Given the description of an element on the screen output the (x, y) to click on. 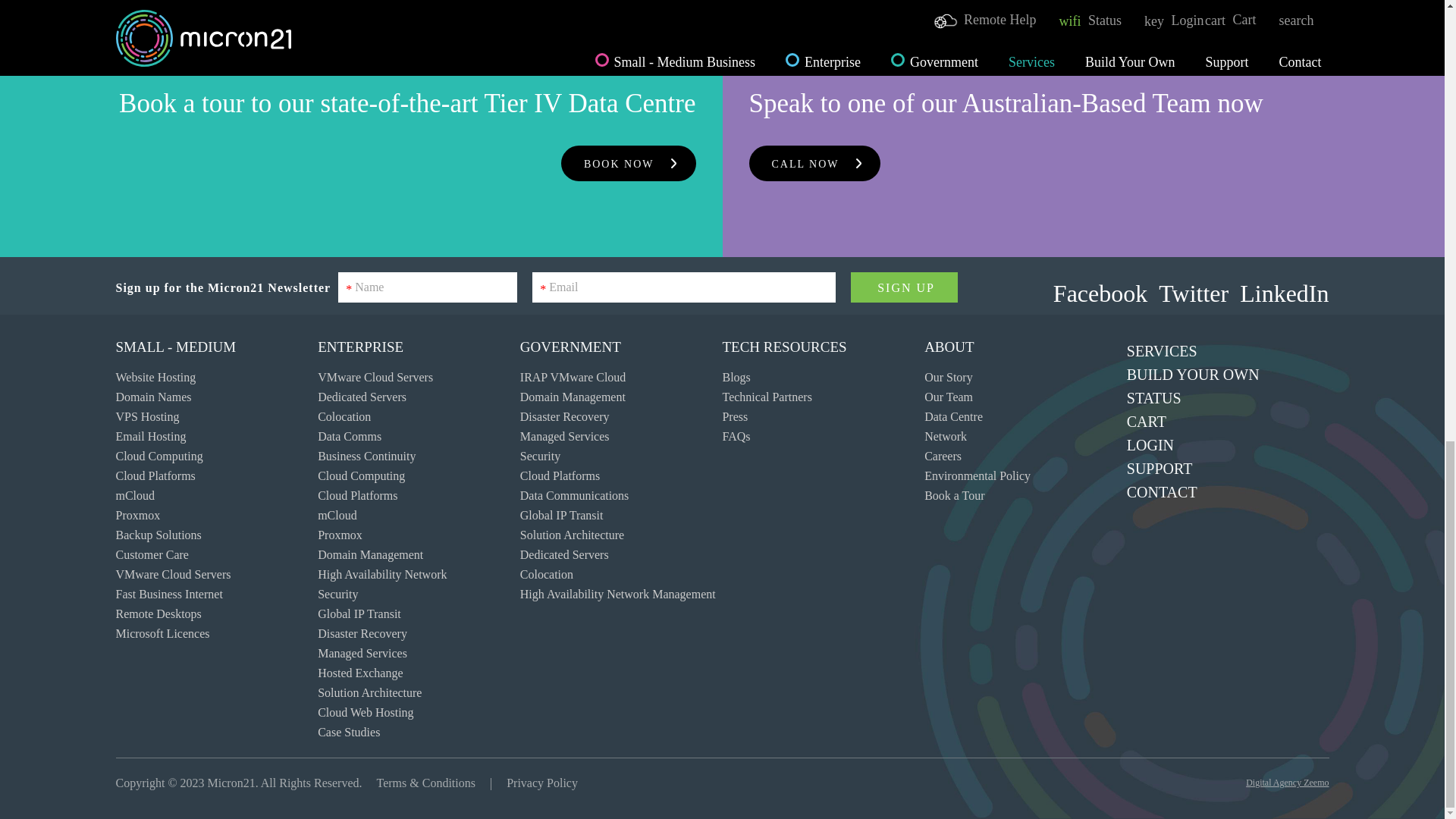
Sign up (904, 286)
